Given the description of an element on the screen output the (x, y) to click on. 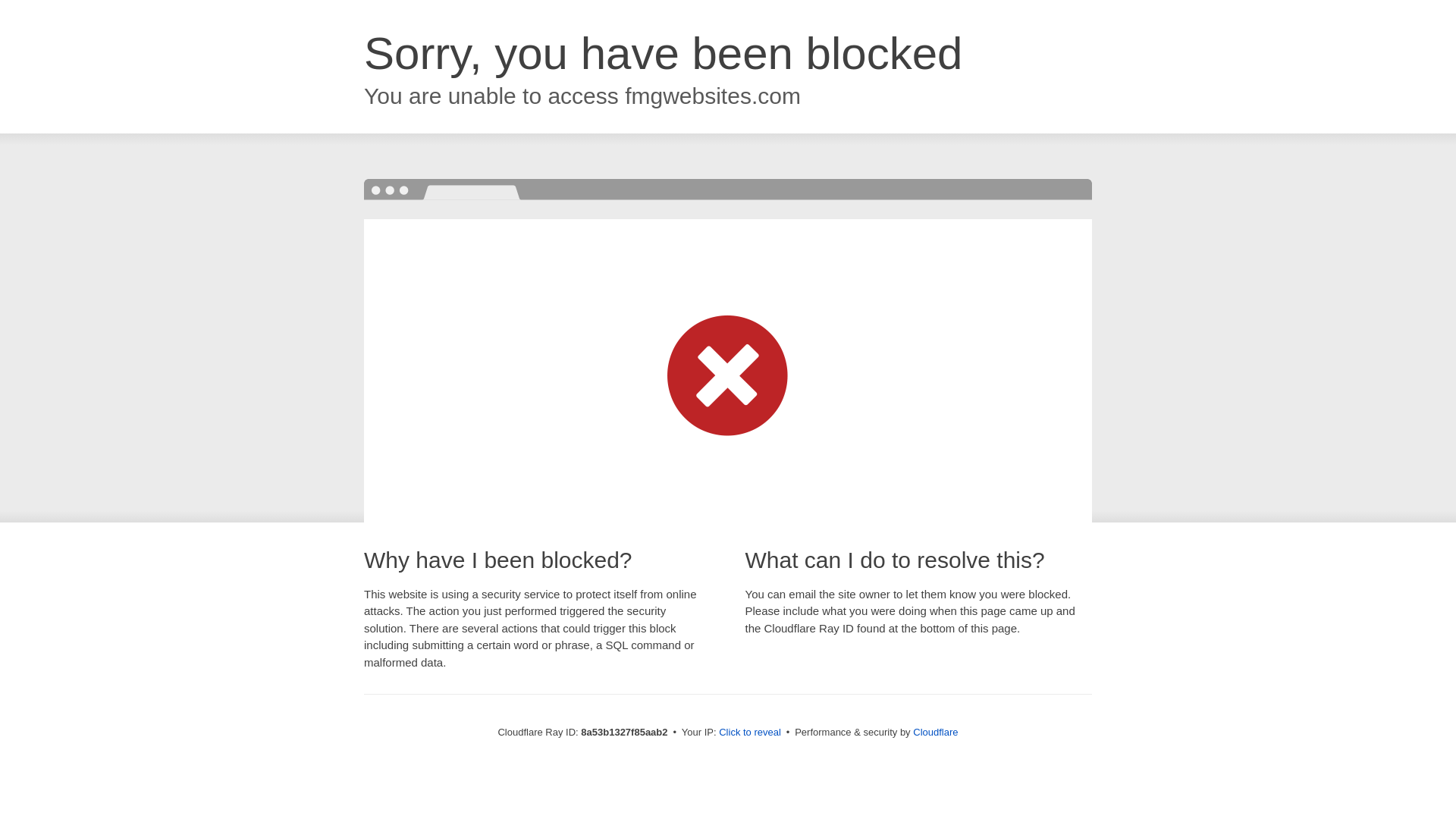
Click to reveal (749, 732)
Cloudflare (935, 731)
